Given the description of an element on the screen output the (x, y) to click on. 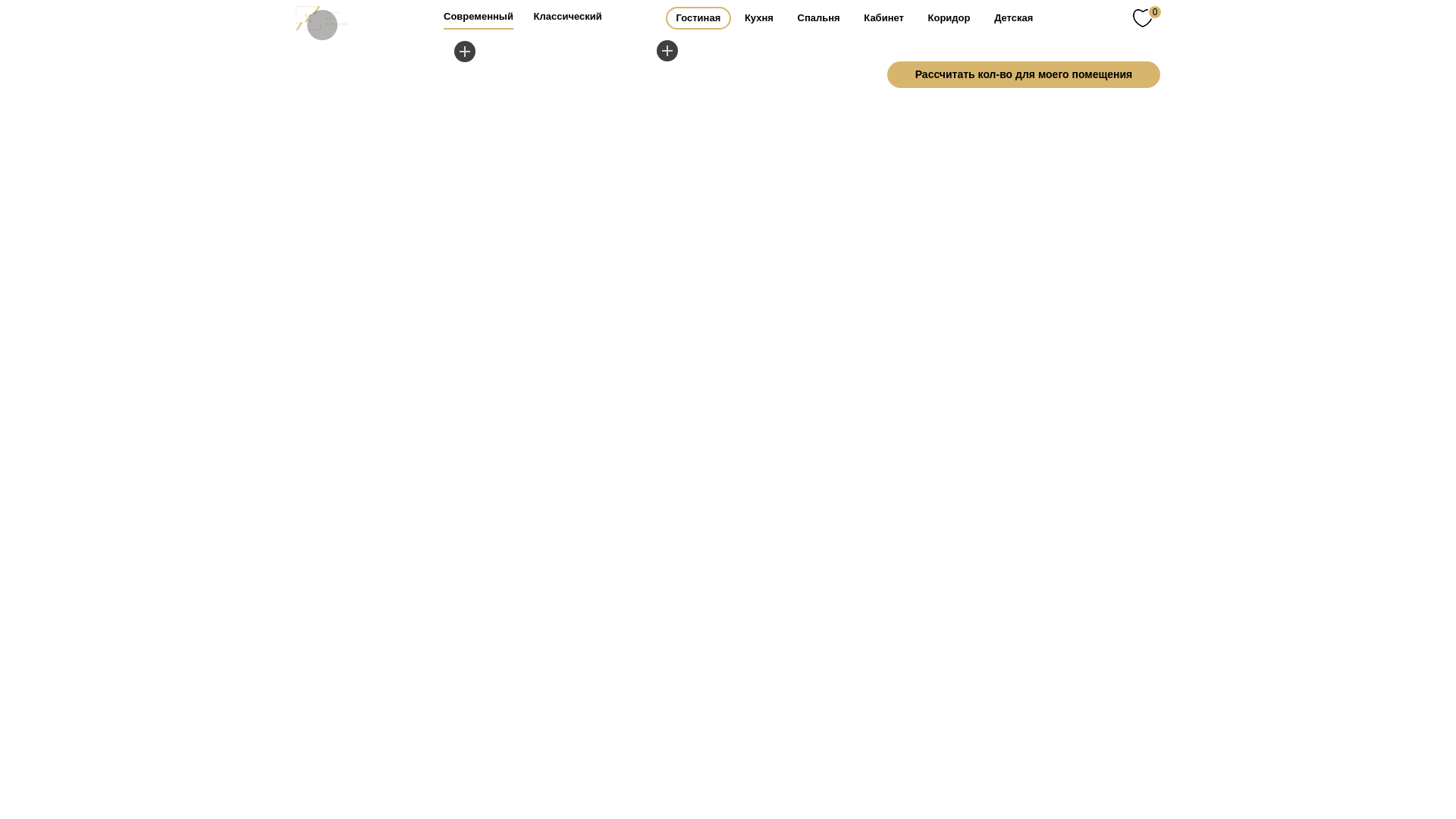
0 Element type: text (1146, 16)
